Given the description of an element on the screen output the (x, y) to click on. 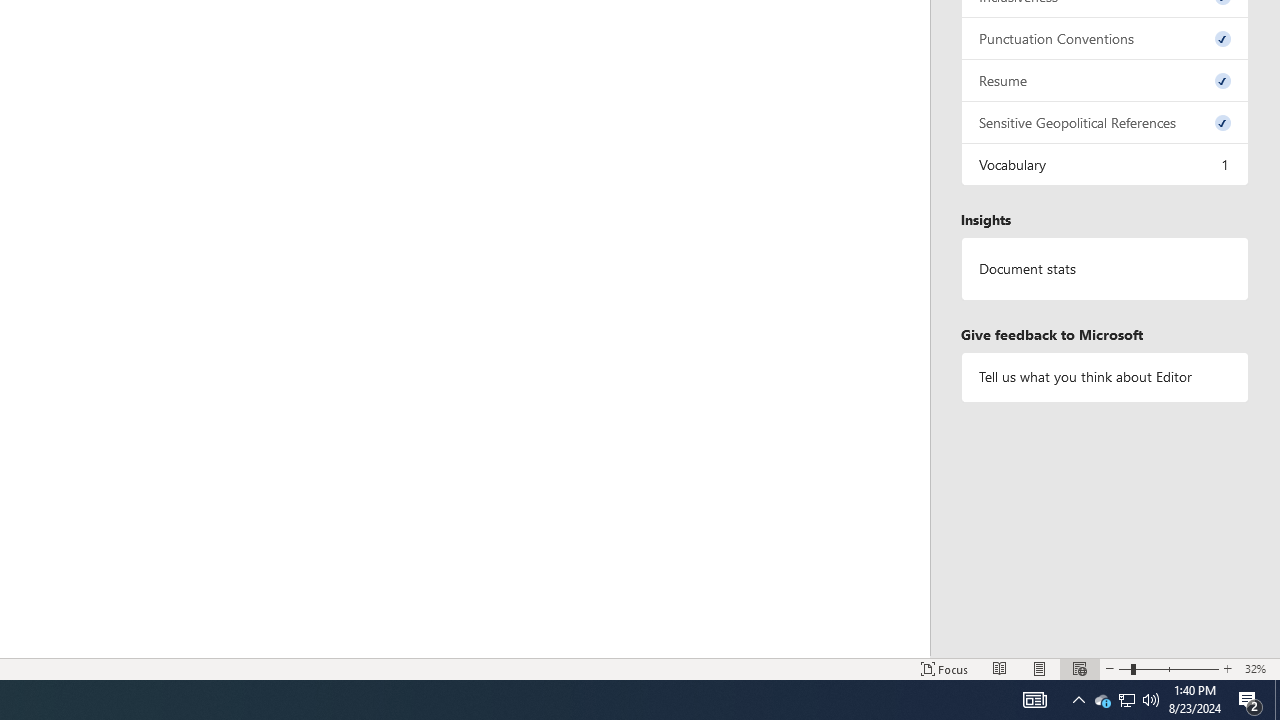
Tell us what you think about Editor (1105, 376)
Document statistics (1105, 269)
Resume, 0 issues. Press space or enter to review items. (1105, 79)
Vocabulary, 1 issue. Press space or enter to review items. (1105, 164)
Zoom 32% (1258, 668)
